Given the description of an element on the screen output the (x, y) to click on. 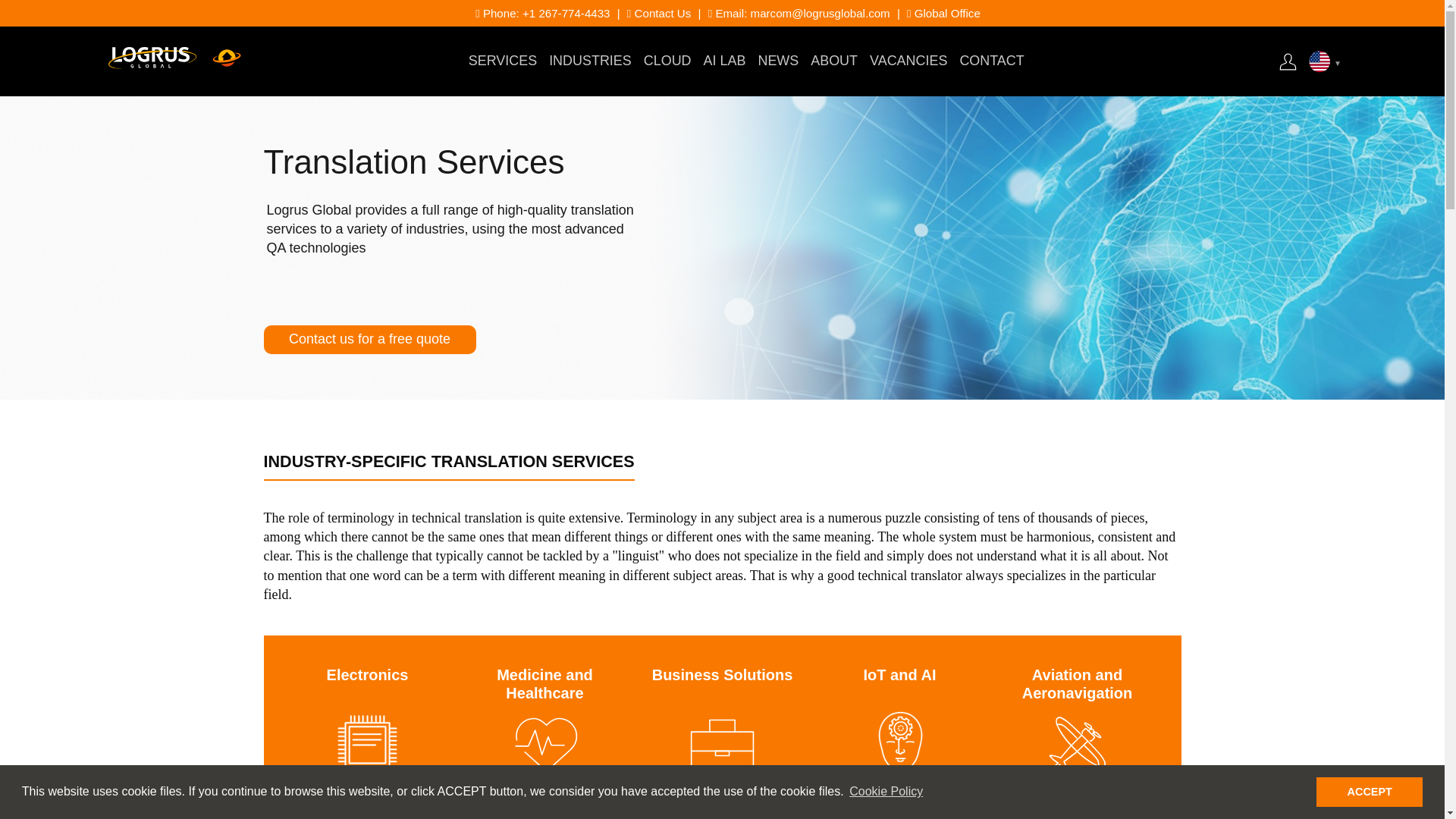
 Contact Us (658, 12)
 Global Office (943, 12)
ACCEPT (1369, 791)
Cookie Policy (885, 791)
